Given the description of an element on the screen output the (x, y) to click on. 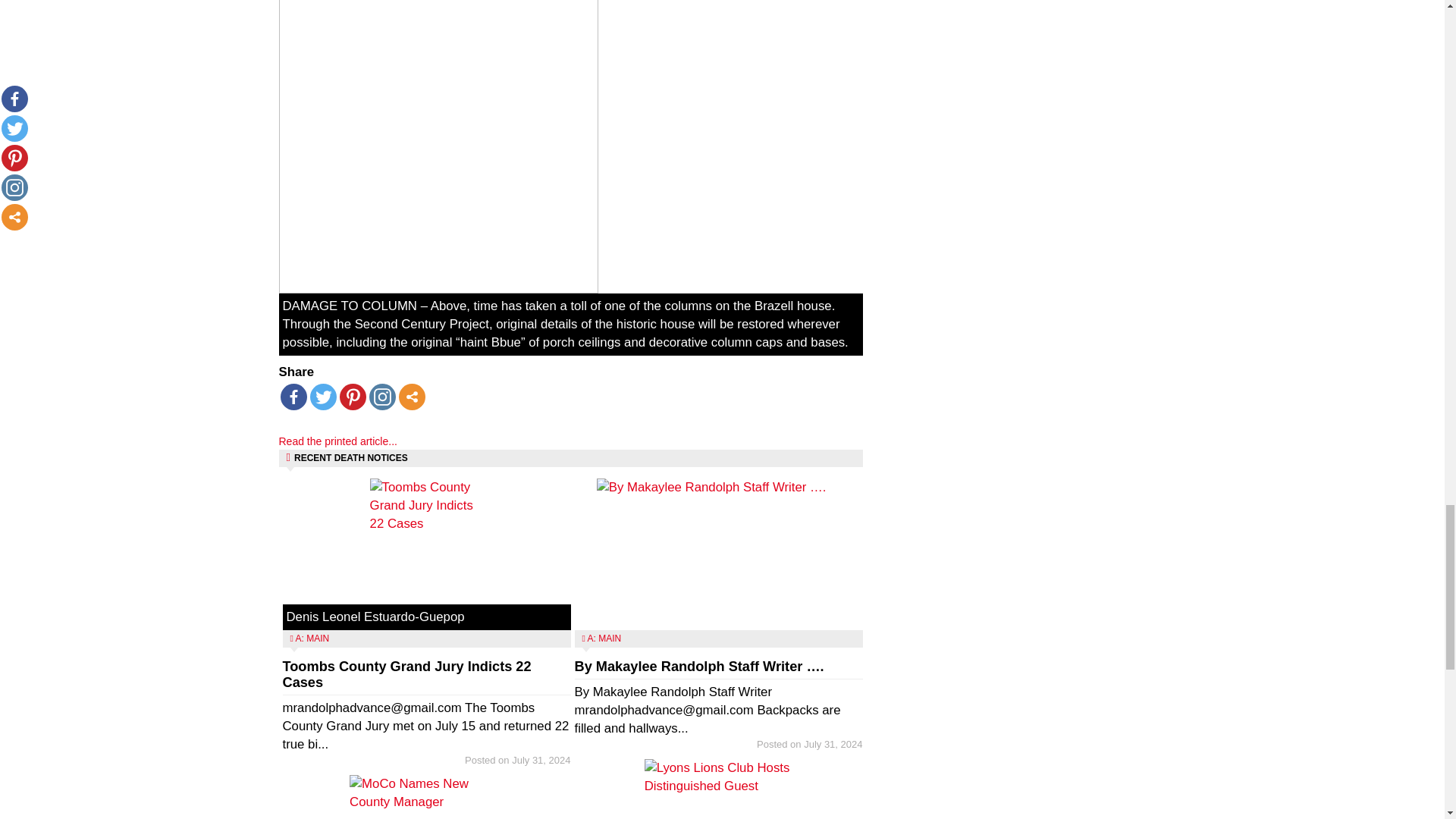
Twitter (322, 397)
Read the printed article... (338, 440)
More (411, 397)
Pinterest (352, 397)
A Second Century (438, 146)
A: MAIN (312, 638)
Toombs County Grand Jury Indicts 22 Cases (406, 674)
Instagram (381, 397)
Facebook (294, 397)
